Given the description of an element on the screen output the (x, y) to click on. 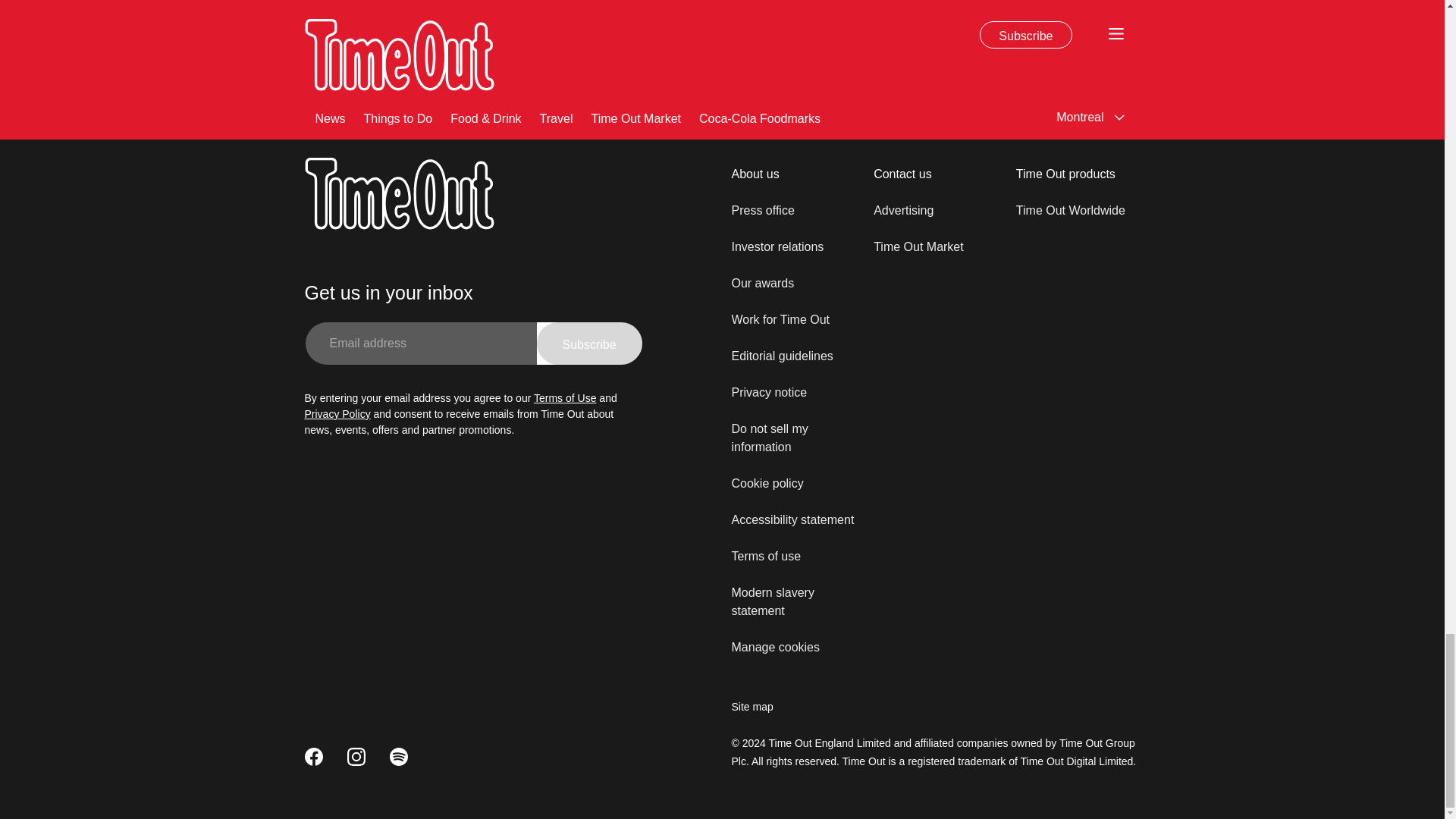
Subscribe (589, 343)
